Given the description of an element on the screen output the (x, y) to click on. 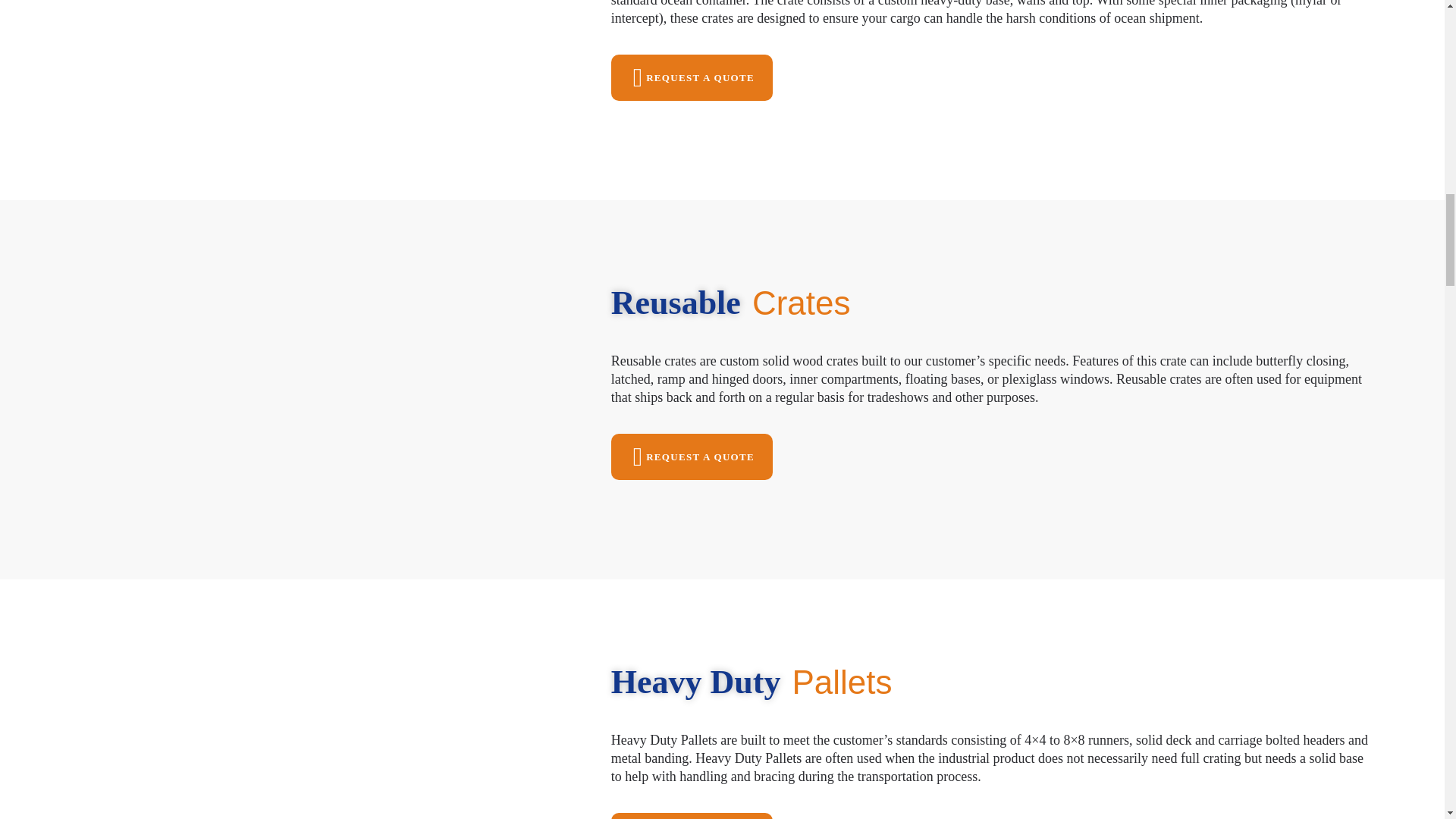
REQUEST A QUOTE (692, 77)
REQUEST A QUOTE (692, 816)
REQUEST A QUOTE (692, 456)
